Given the description of an element on the screen output the (x, y) to click on. 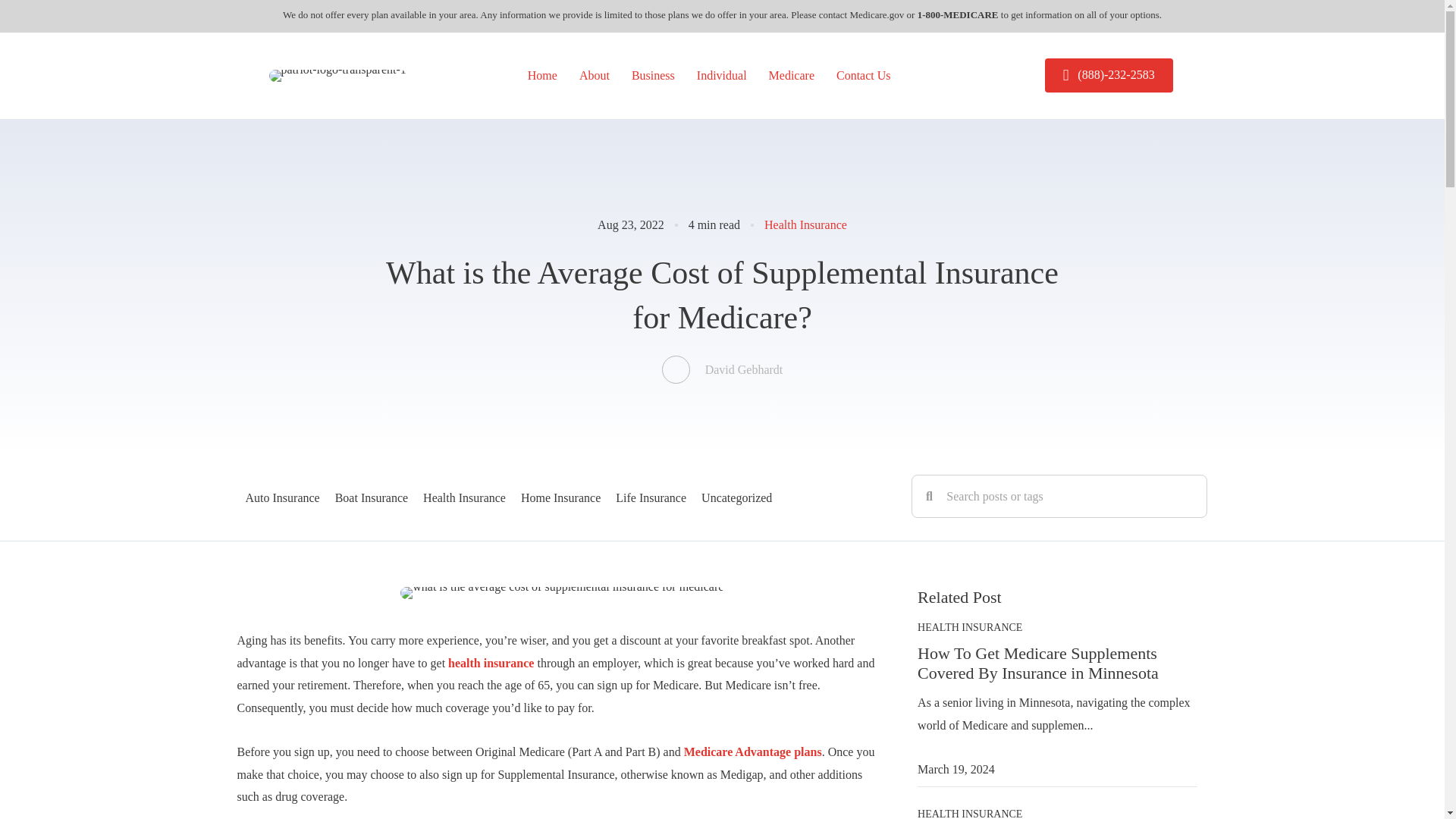
Life Insurance (650, 496)
Business (653, 75)
Health Insurance (464, 496)
patriot-logo-transparent-1 (336, 75)
Medicare (791, 75)
Home (541, 75)
Search (1070, 495)
Individual (721, 75)
Auto Insurance (283, 496)
